Given the description of an element on the screen output the (x, y) to click on. 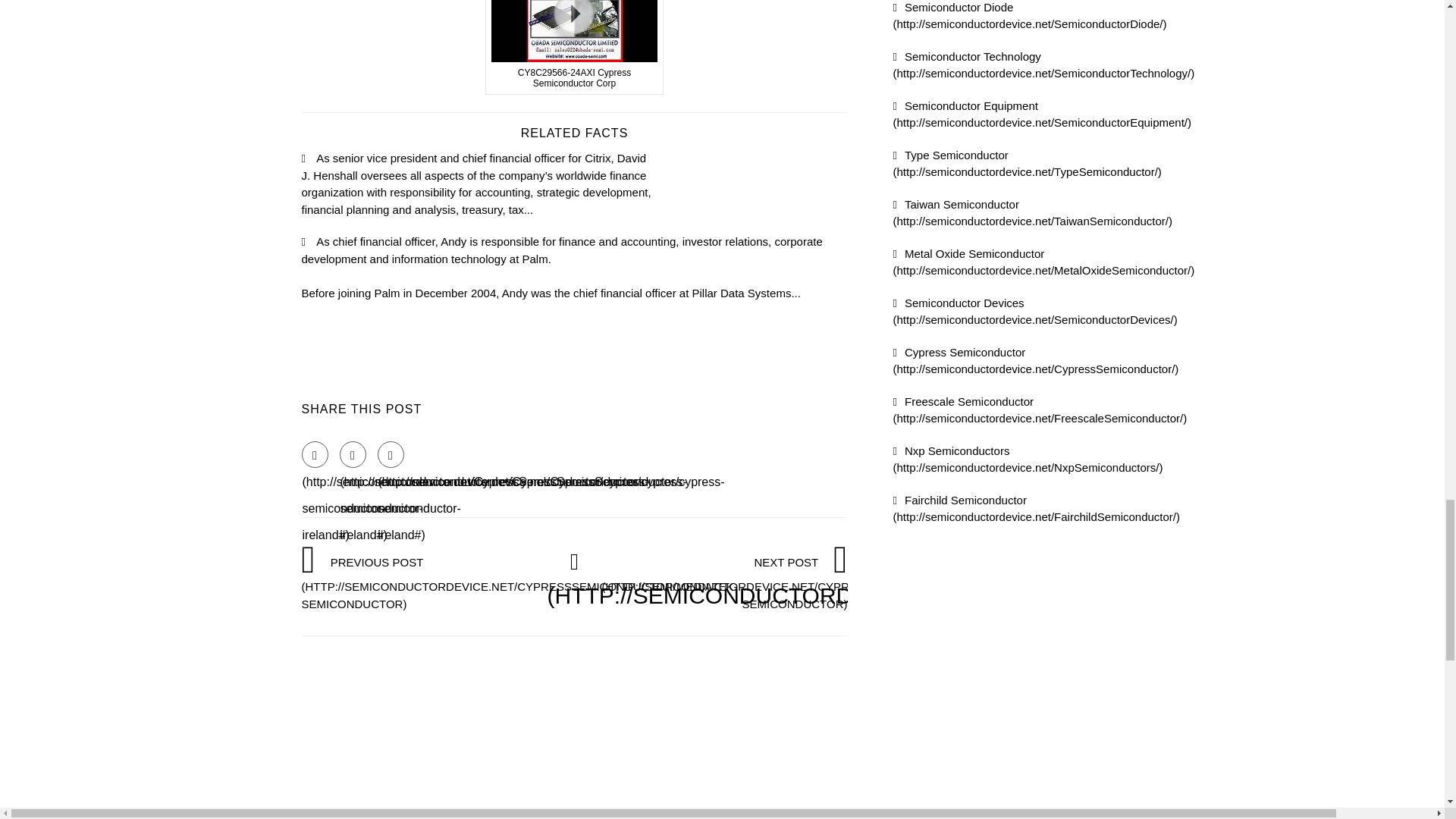
View all posts filed under Semiconductor Equipment (1042, 113)
View all posts filed under Type Semiconductor (1027, 163)
PREVIOUS POST (519, 582)
View all posts filed under Semiconductor Devices (1035, 310)
View all posts filed under Metal Oxide Semiconductor (1044, 262)
View all posts filed under Semiconductor Diode (1030, 15)
View all posts filed under Taiwan Semiconductor (1033, 212)
Twitter (352, 454)
View this video from Vimeo (573, 47)
Google Plus (390, 454)
View all posts filed under Semiconductor Technology (1044, 64)
NEXT POST (820, 582)
Facebook (315, 454)
